Given the description of an element on the screen output the (x, y) to click on. 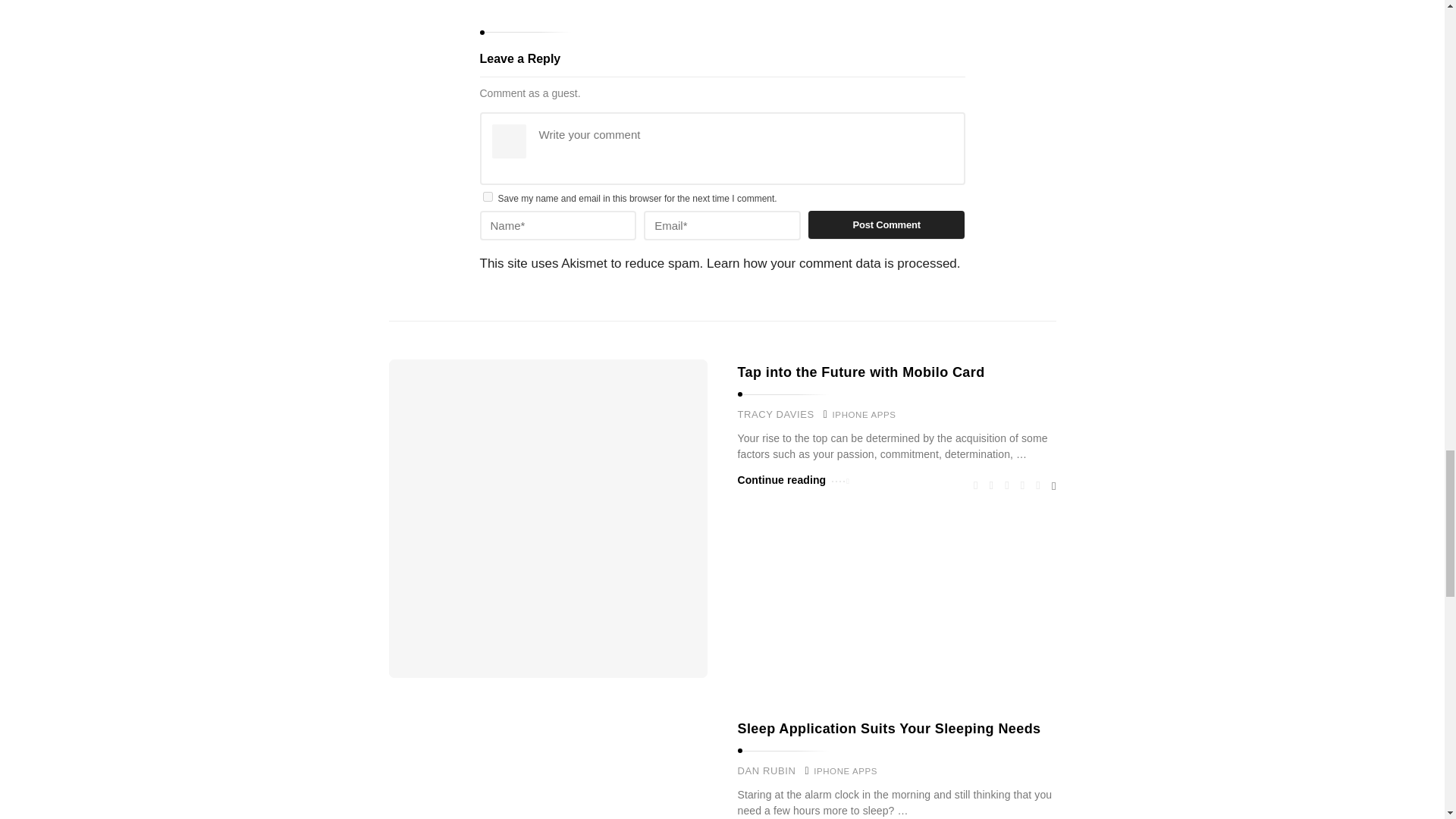
TRACY DAVIES (774, 414)
Post Comment (886, 224)
Post Comment (886, 224)
Learn how your comment data is processed (831, 263)
yes (486, 196)
Continue reading (792, 479)
IPHONE APPS (864, 414)
Tap into the Future with Mobilo Card (860, 372)
